Given the description of an element on the screen output the (x, y) to click on. 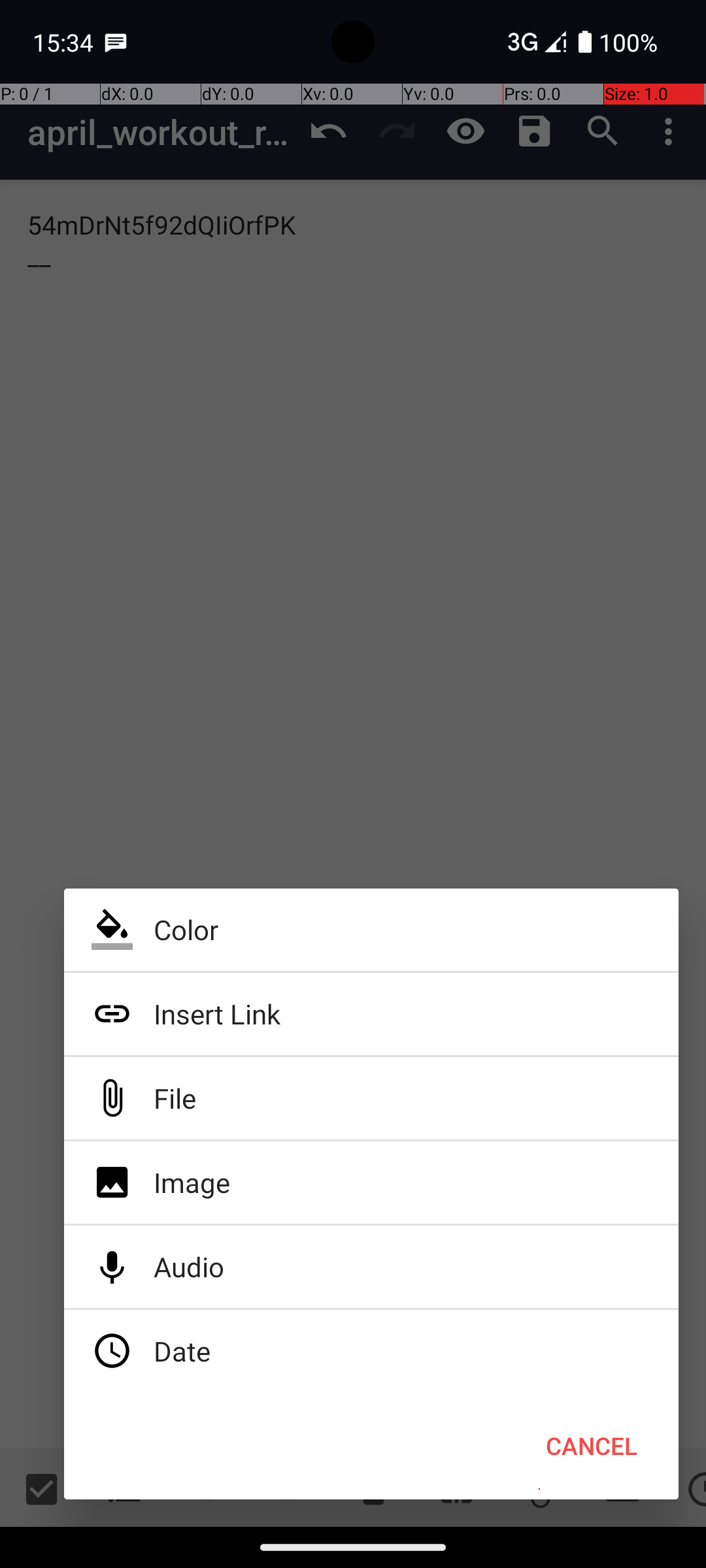
Color Element type: android.widget.TextView (371, 929)
Insert Link Element type: android.widget.TextView (371, 1013)
File Element type: android.widget.TextView (371, 1098)
Image Element type: android.widget.TextView (371, 1182)
